Given the description of an element on the screen output the (x, y) to click on. 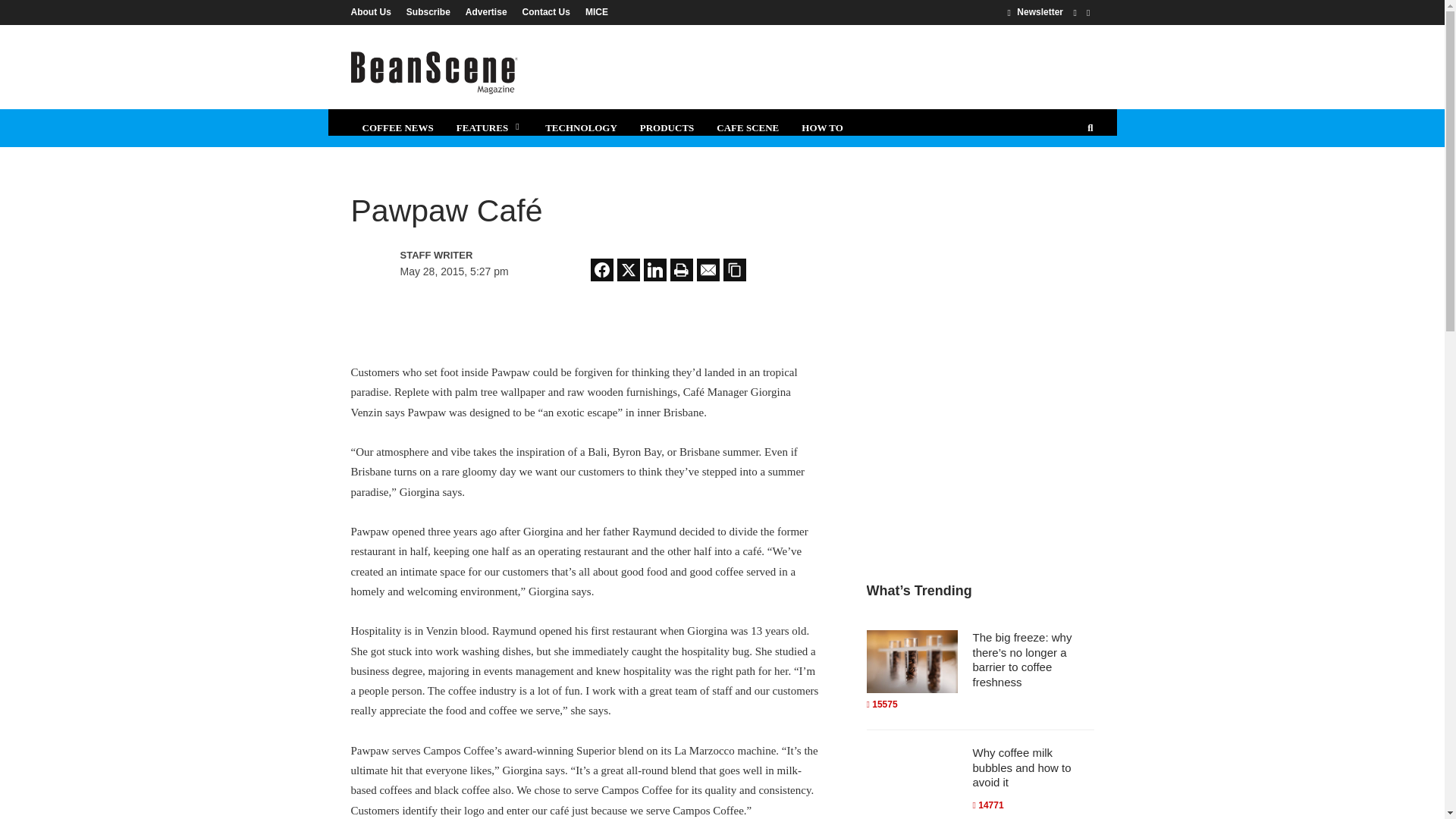
Share on Facebook (601, 269)
About Us (373, 11)
TECHNOLOGY (581, 127)
Contact Us (546, 11)
View all posts by Staff Writer (465, 254)
PRODUCTS (667, 127)
Share on Print (681, 269)
Advertise (486, 11)
Share on LinkedIn (654, 269)
Share on Email (708, 269)
